Given the description of an element on the screen output the (x, y) to click on. 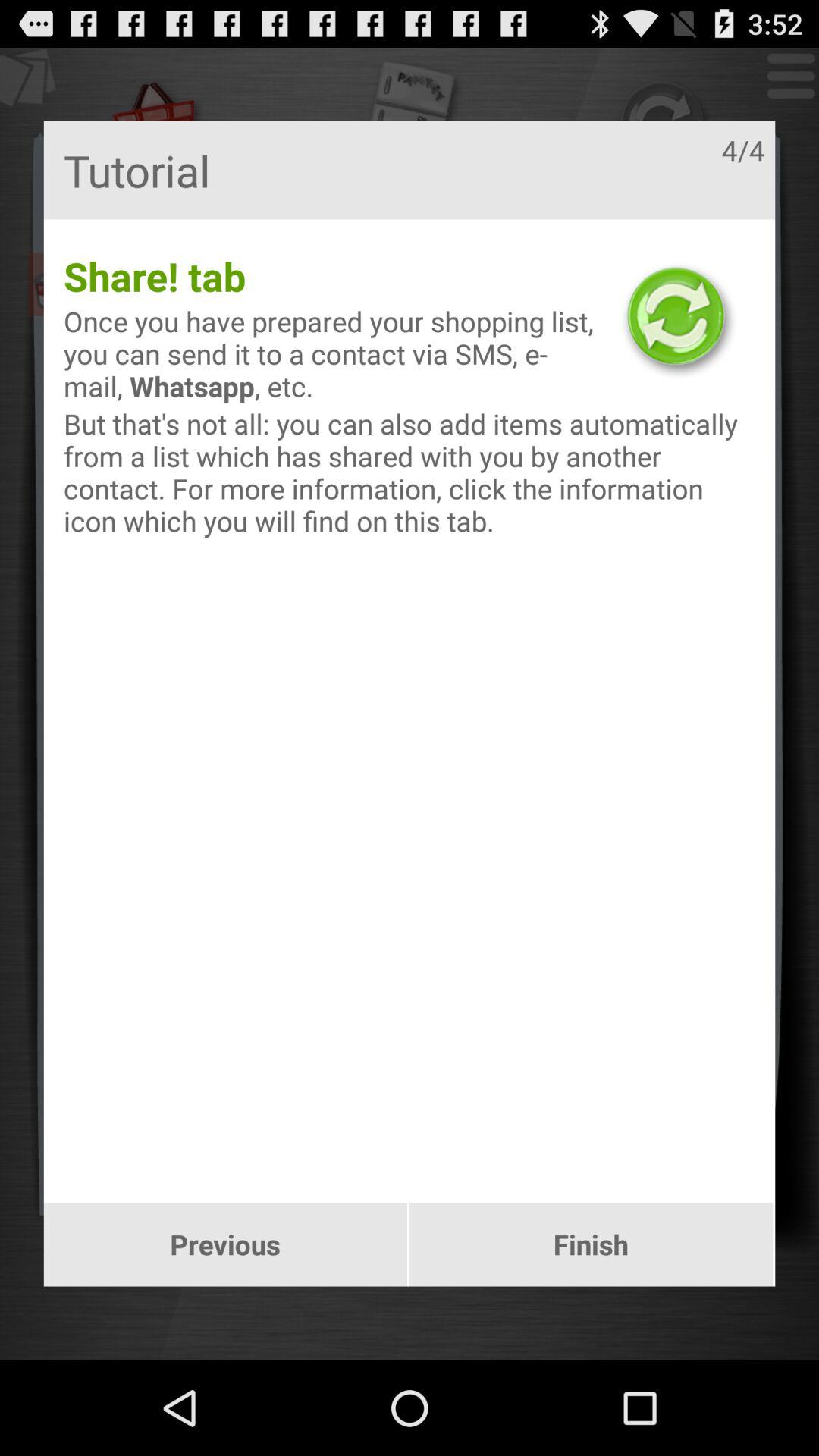
turn on previous item (225, 1244)
